Given the description of an element on the screen output the (x, y) to click on. 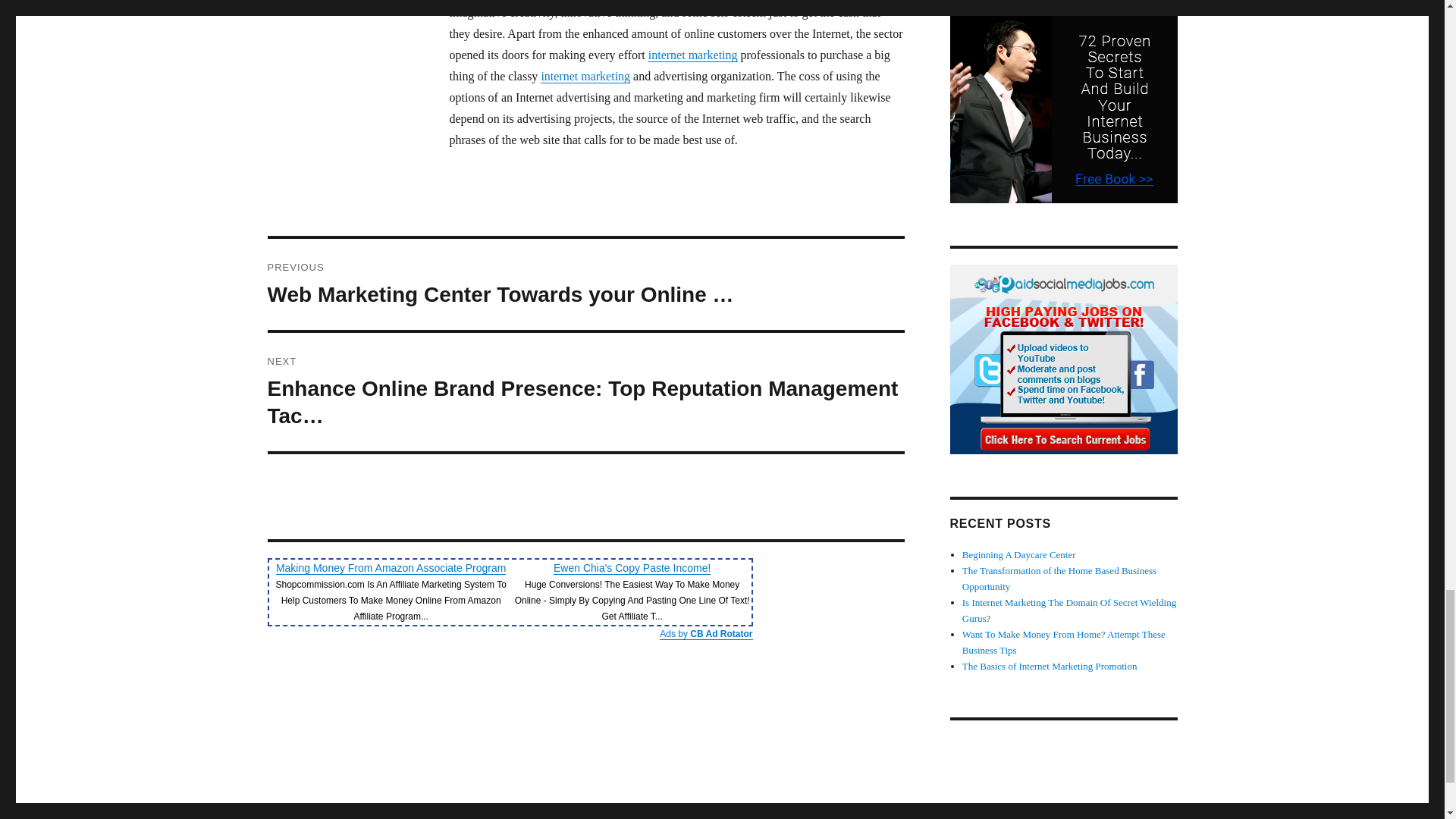
Ewen Chia's Copy Paste Income! (631, 567)
The Transformation of the Home Based Business Opportunity (1059, 578)
The Basics of Internet Marketing Promotion (1049, 665)
Making Money From Amazon Associate Program (390, 567)
Want To Make Money From Home? Attempt These Business Tips (1064, 642)
Is Internet Marketing The Domain Of Secret Wielding Gurus? (1069, 610)
internet marketing (692, 54)
internet marketing (585, 75)
Beginning A Daycare Center (1018, 554)
Ads by CB Ad Rotator (705, 633)
